Given the description of an element on the screen output the (x, y) to click on. 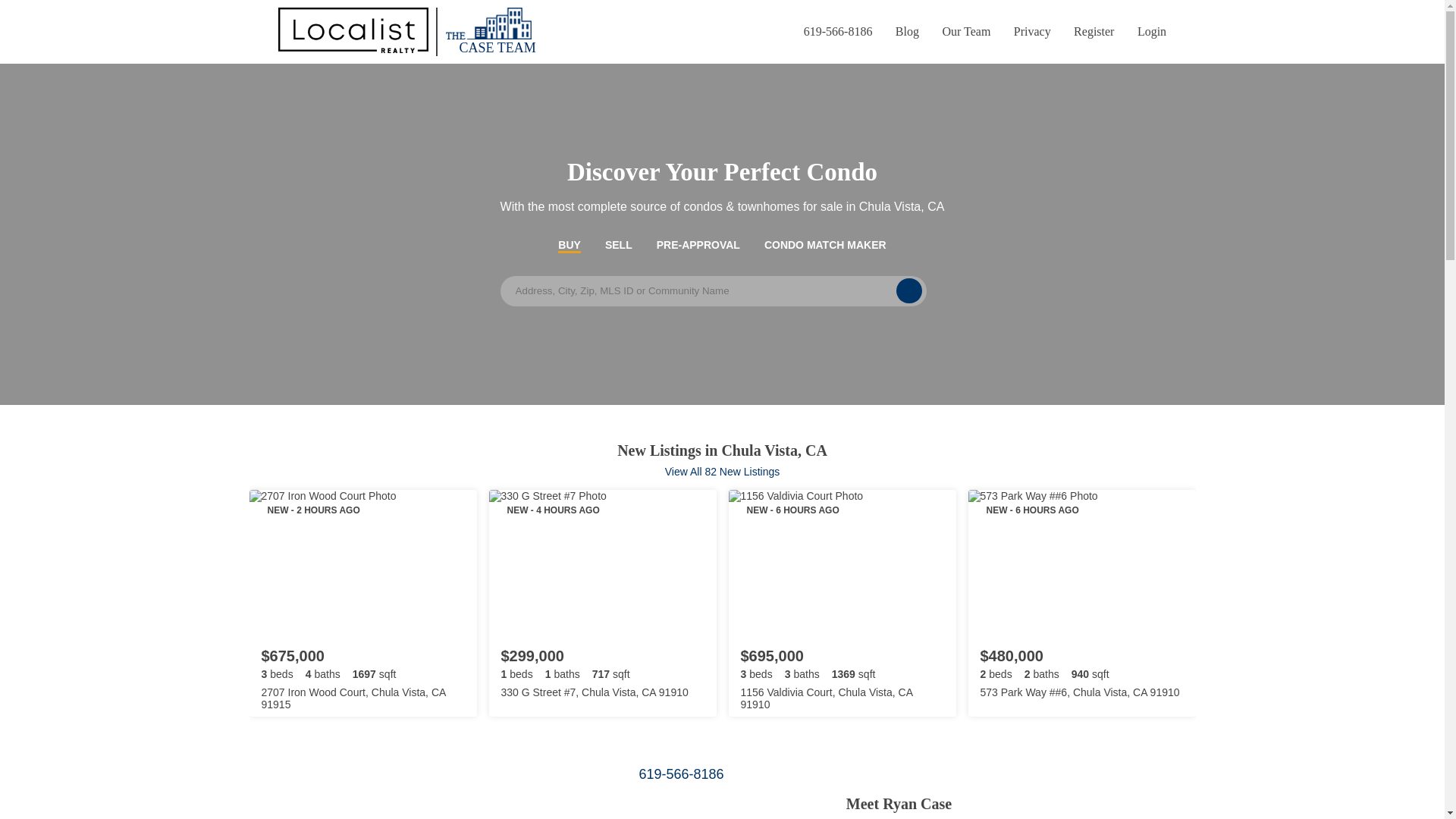
Privacy (1028, 31)
BUY (568, 244)
Blog (903, 31)
Register (1089, 31)
Login (1147, 31)
CASE TEAM (406, 31)
PRE-APPROVAL (697, 244)
CONDO MATCH MAKER (825, 244)
619-566-8186 (894, 774)
Our Team (962, 31)
619-566-8186 (834, 31)
View All 82 New Listings (721, 471)
SELL (618, 244)
